Given the description of an element on the screen output the (x, y) to click on. 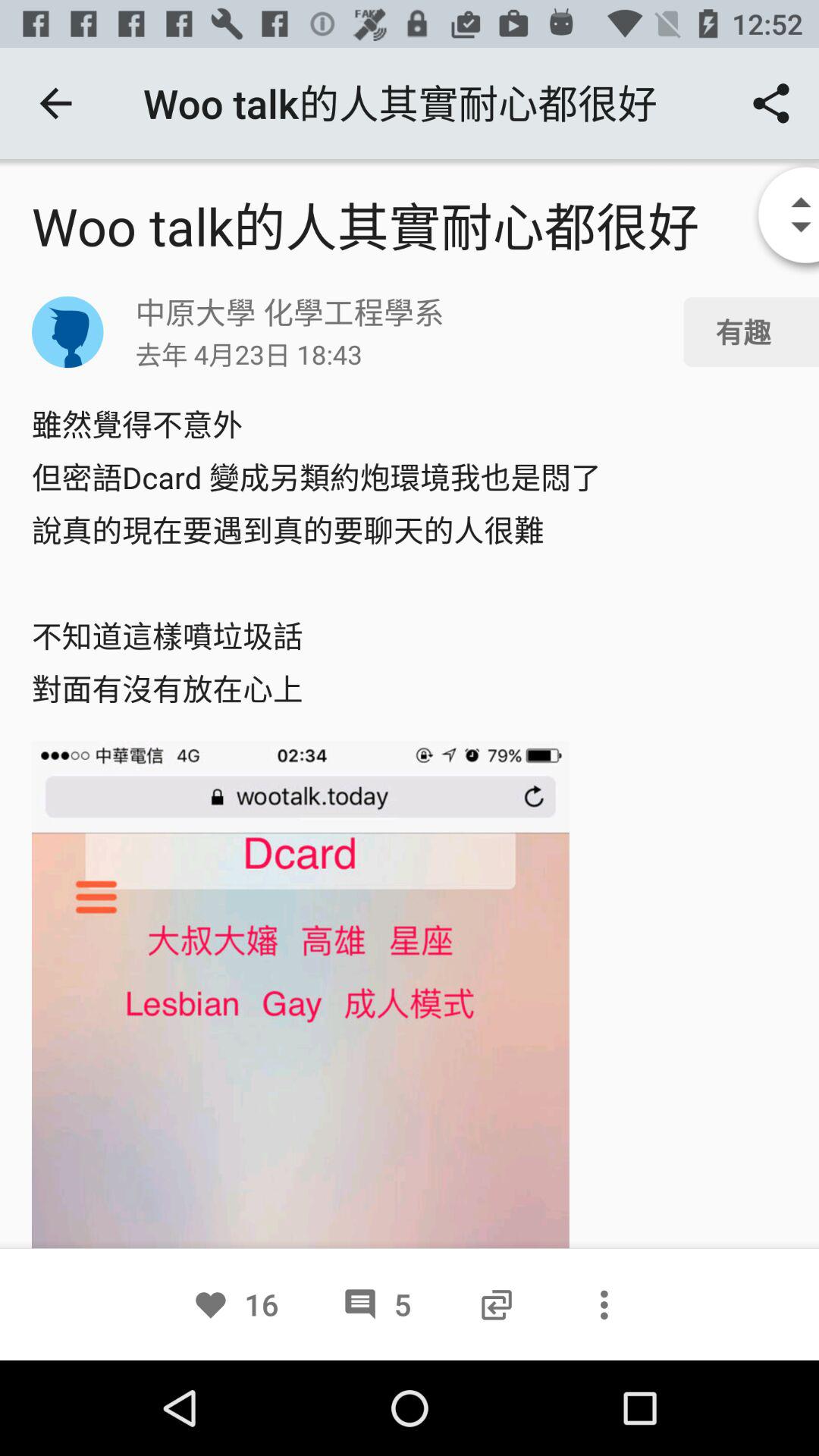
turn on the icon at the center (409, 556)
